Given the description of an element on the screen output the (x, y) to click on. 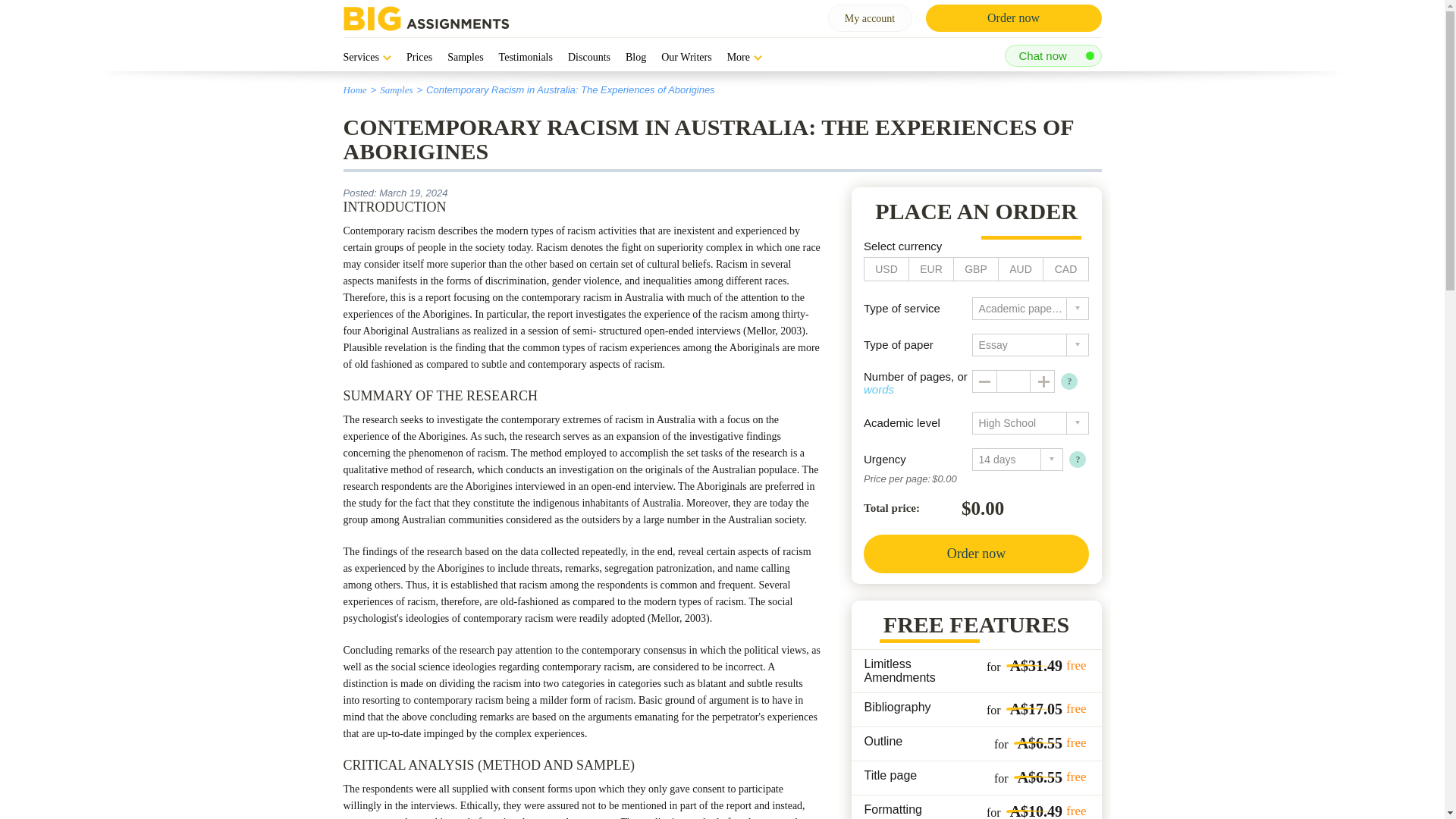
Testimonials (526, 57)
Our Writers (686, 57)
Chat now (1052, 55)
Samples (396, 89)
Samples (464, 57)
Choose within what time frames we should complete your paper (1077, 459)
Blog (636, 57)
Home (354, 89)
Discounts (588, 57)
Prices (419, 57)
More (743, 57)
words (878, 389)
Order now (1012, 17)
My account (870, 17)
